Given the description of an element on the screen output the (x, y) to click on. 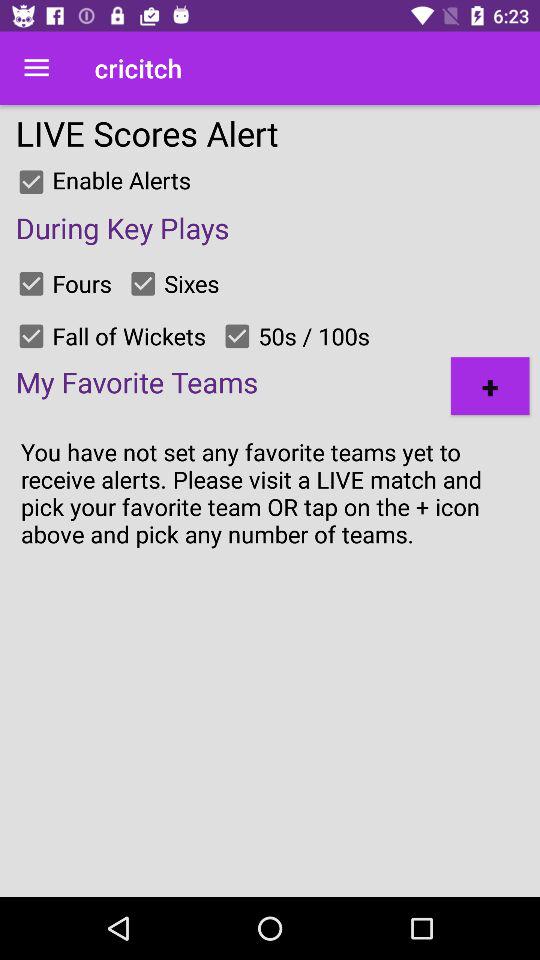
select fall of wickets (31, 336)
